Given the description of an element on the screen output the (x, y) to click on. 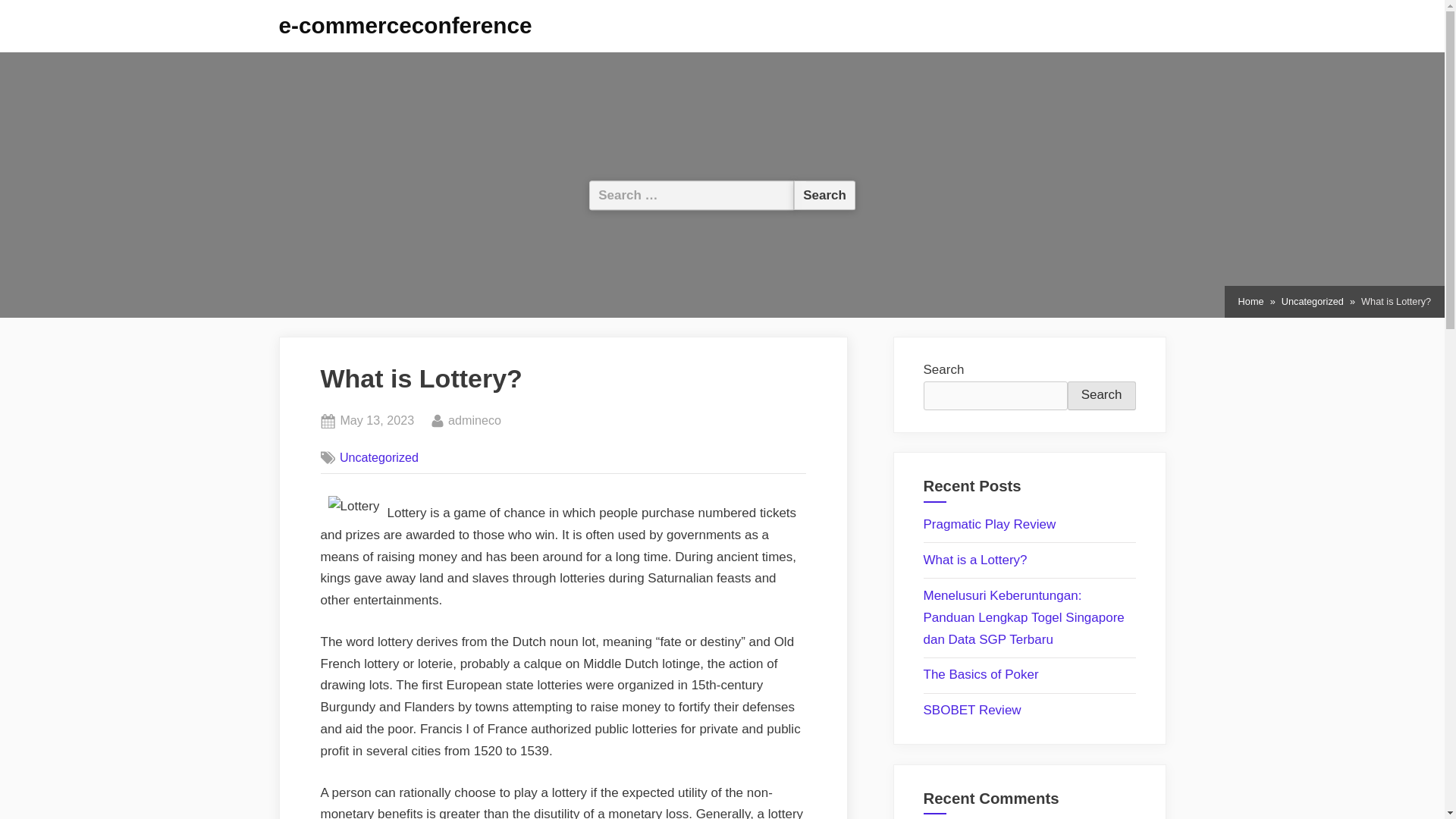
Home (1251, 301)
e-commerceconference (376, 420)
The Basics of Poker (405, 25)
Search (981, 674)
Search (1101, 395)
Search (824, 194)
Pragmatic Play Review (824, 194)
Uncategorized (990, 523)
SBOBET Review (1312, 301)
Uncategorized (972, 709)
Search (379, 457)
What is a Lottery? (474, 420)
